Given the description of an element on the screen output the (x, y) to click on. 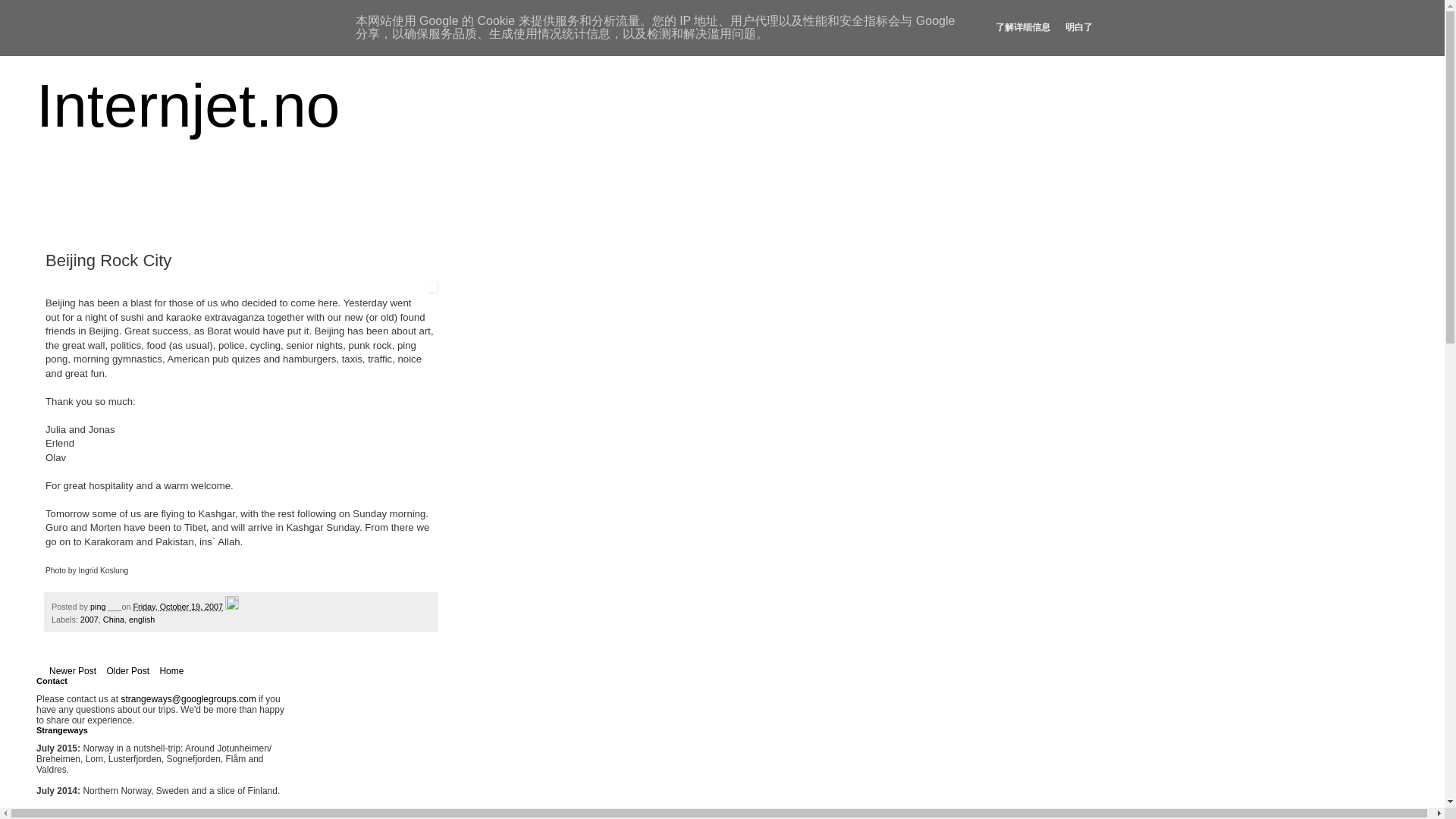
ping (98, 605)
2007 (89, 619)
Newer Post (72, 670)
Older Post (126, 670)
english (141, 619)
Edit Post (231, 605)
author profile (98, 605)
Newer Post (72, 670)
Friday, October 19, 2007 (177, 605)
Older Post (126, 670)
Home (171, 670)
Internjet.no (187, 105)
China (113, 619)
permanent link (177, 605)
